Given the description of an element on the screen output the (x, y) to click on. 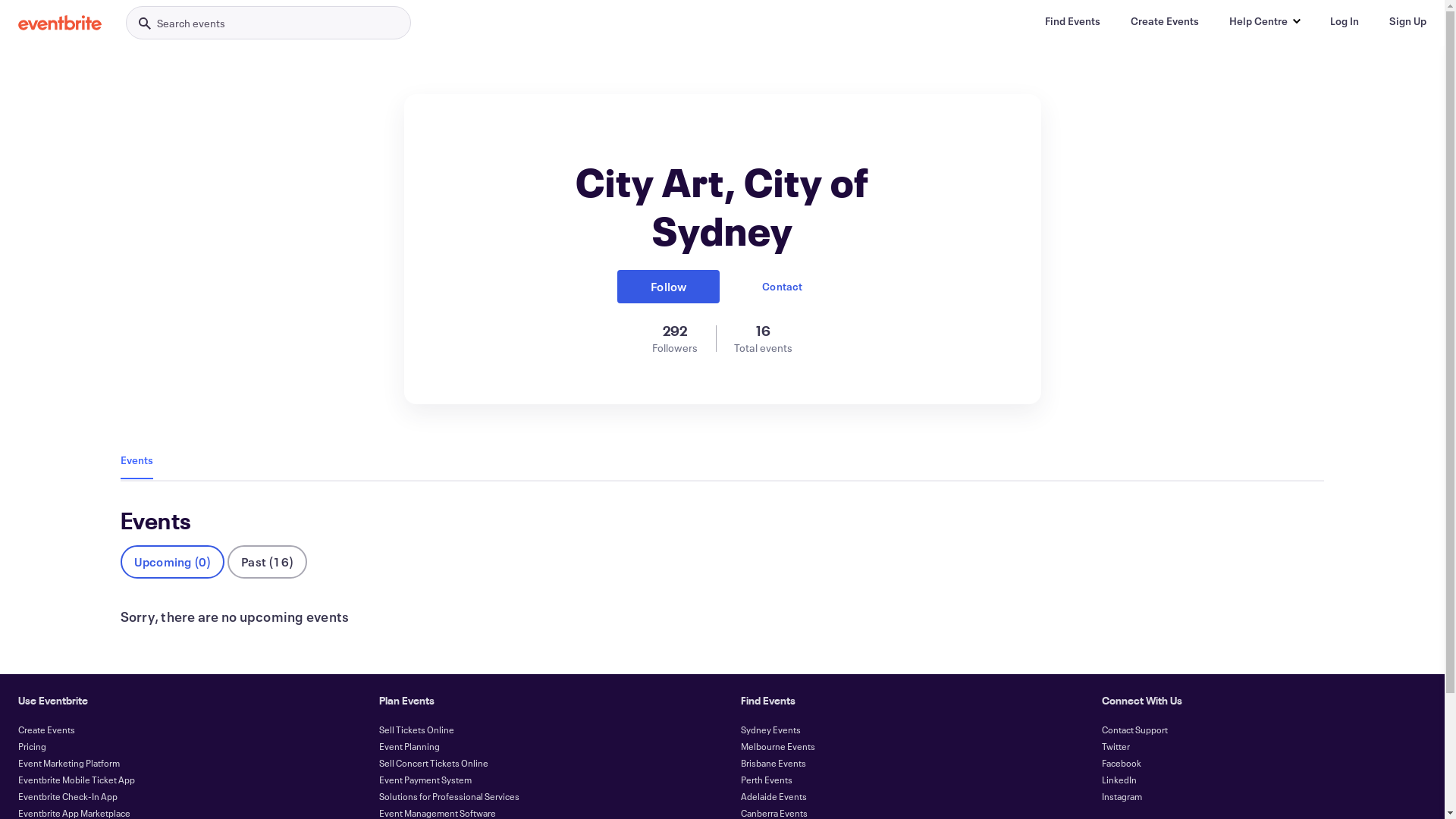
Solutions for Professional Services Element type: text (449, 796)
Create Events Element type: text (1164, 21)
Sell Concert Tickets Online Element type: text (433, 762)
Eventbrite Mobile Ticket App Element type: text (76, 779)
Adelaide Events Element type: text (773, 796)
Event Marketing Platform Element type: text (68, 762)
Contact Support Element type: text (1134, 729)
Brisbane Events Element type: text (772, 762)
Eventbrite Element type: hover (59, 22)
Find Events Element type: text (1072, 21)
Sydney Events Element type: text (770, 729)
Past (16) Element type: text (267, 561)
Eventbrite Check-In App Element type: text (67, 796)
Event Planning Element type: text (409, 746)
Search events Element type: text (268, 22)
Log In Element type: text (1344, 21)
Instagram Element type: text (1121, 796)
Create Events Element type: text (46, 729)
LinkedIn Element type: text (1118, 779)
Event Payment System Element type: text (425, 779)
Contact Element type: text (781, 286)
Twitter Element type: text (1115, 746)
Sell Tickets Online Element type: text (416, 729)
Melbourne Events Element type: text (777, 746)
Perth Events Element type: text (765, 779)
Facebook Element type: text (1121, 762)
Pricing Element type: text (32, 746)
Sign Up Element type: text (1407, 21)
Upcoming (0) Element type: text (172, 561)
Events Element type: text (136, 459)
Follow Element type: text (668, 286)
